Given the description of an element on the screen output the (x, y) to click on. 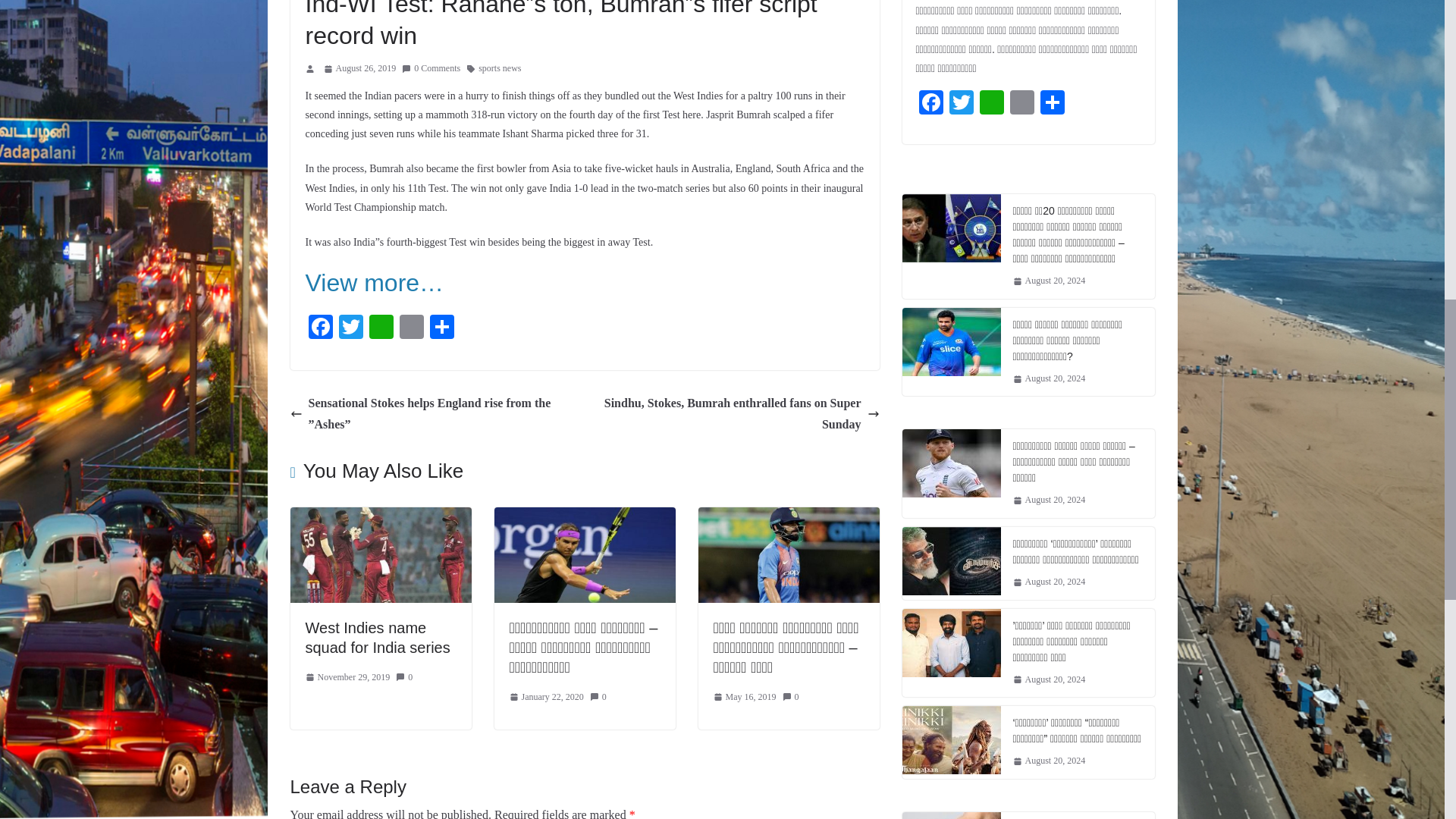
West Indies name squad for India series (379, 517)
WhatsApp (380, 328)
West Indies name squad for India series (376, 637)
Facebook (319, 328)
Twitter (349, 328)
9:50 AM (359, 68)
Copy Link (411, 328)
